Given the description of an element on the screen output the (x, y) to click on. 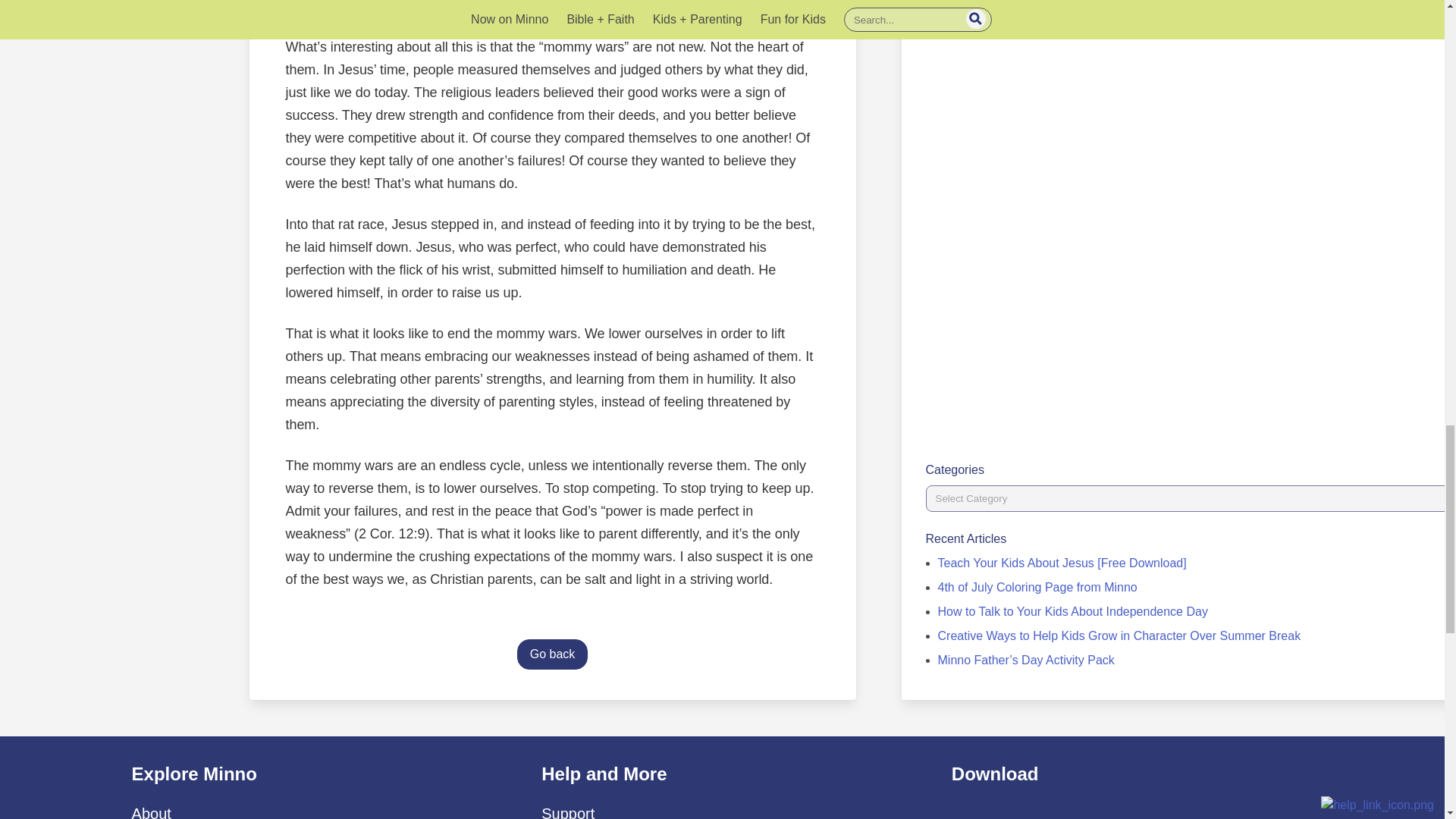
Support (567, 812)
About (151, 812)
Go back (552, 654)
